Given the description of an element on the screen output the (x, y) to click on. 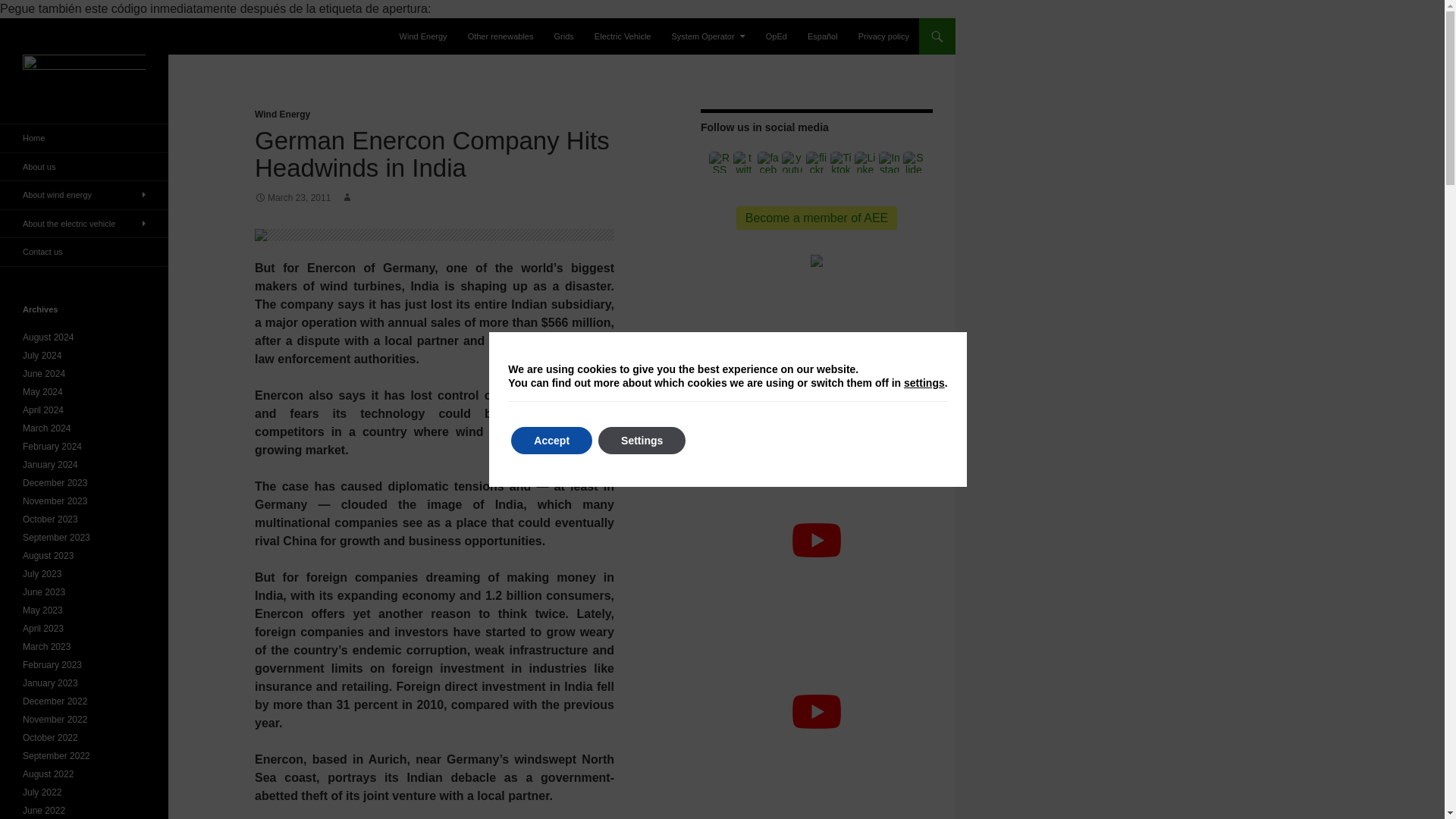
Wind Energy (282, 113)
Privacy policy (883, 36)
RSS (719, 161)
twitter (743, 161)
flickr (816, 161)
Grids (563, 36)
Tiktok (840, 161)
LinkedIn (865, 161)
Instagram (889, 161)
facebook (767, 161)
